Given the description of an element on the screen output the (x, y) to click on. 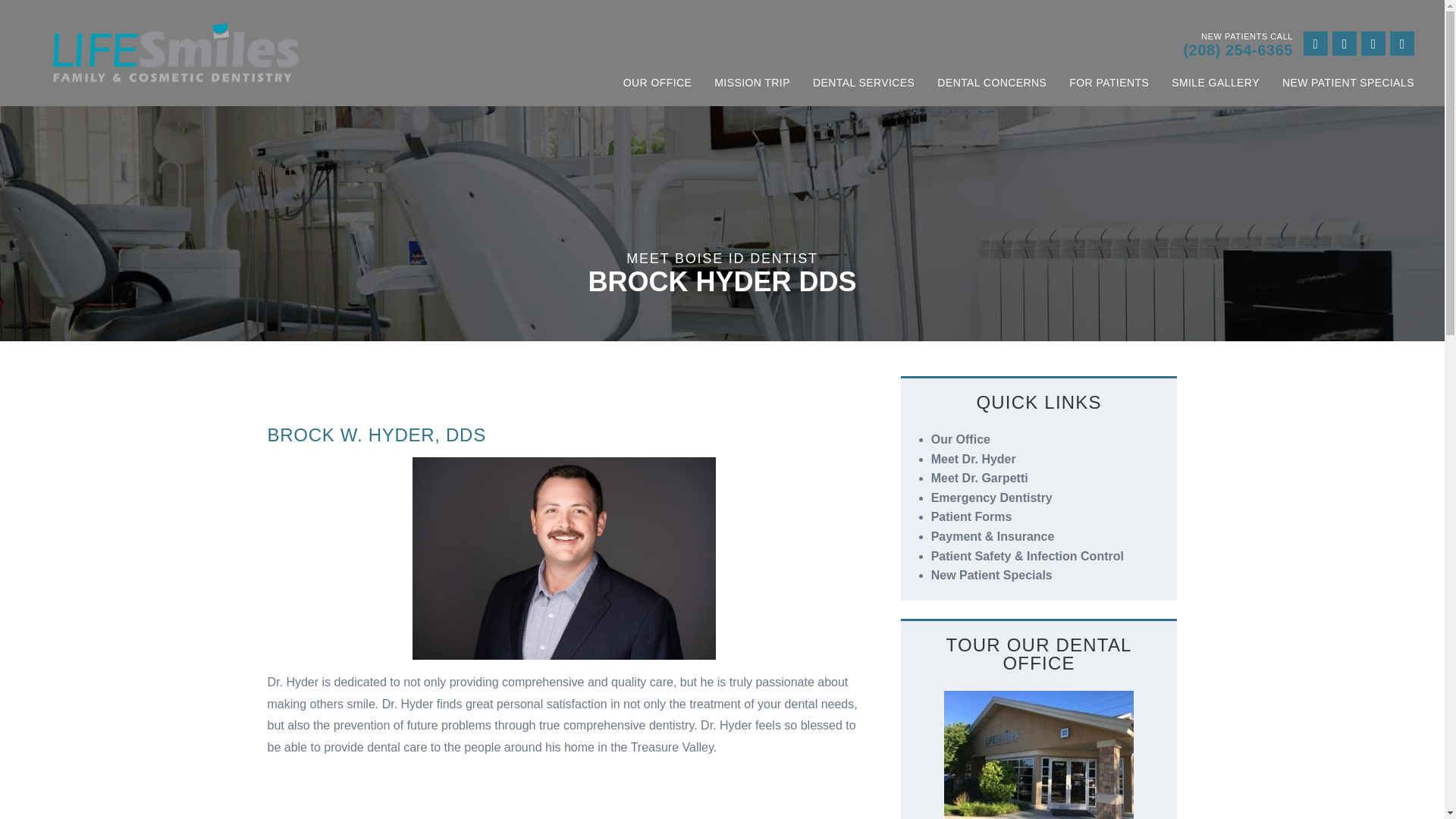
DENTAL SERVICES (863, 81)
OUR OFFICE (658, 81)
MISSION TRIP (752, 81)
